Given the description of an element on the screen output the (x, y) to click on. 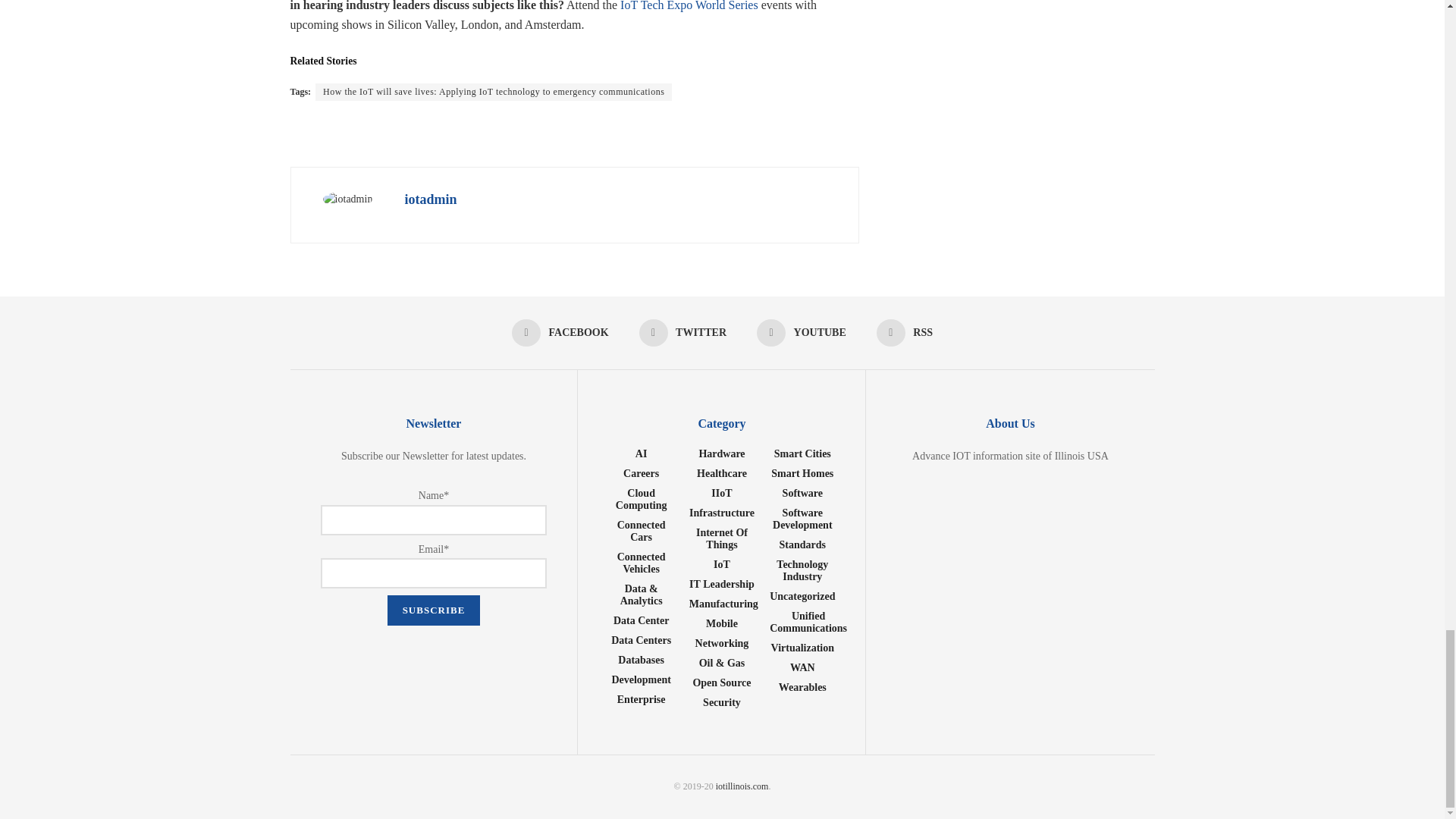
Subscribe (433, 610)
News, Events, Information Site Of illinois (742, 786)
